Given the description of an element on the screen output the (x, y) to click on. 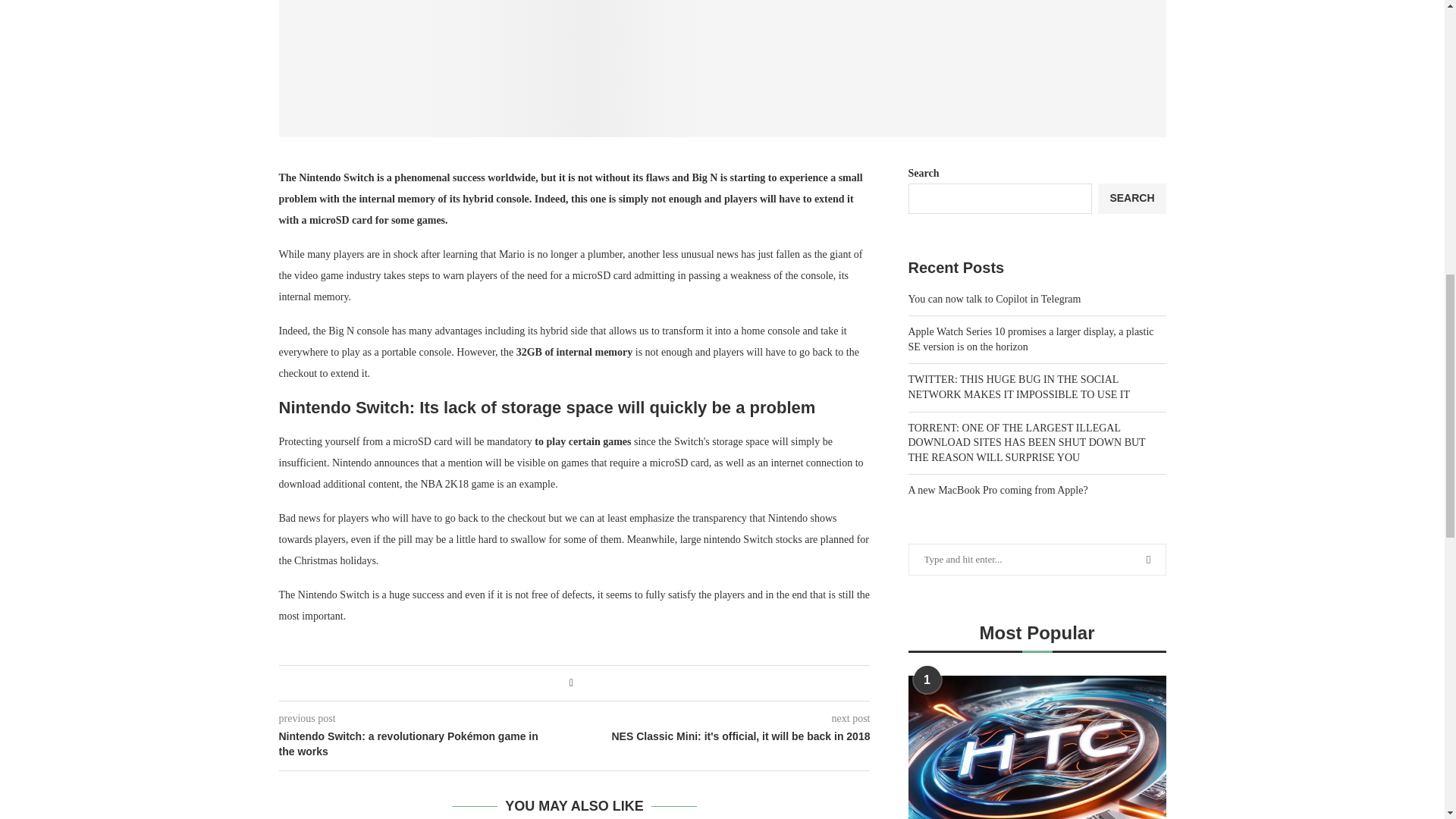
Master the Art of Colors (722, 68)
NES Classic Mini: it's official, it will be back in 2018 (722, 736)
